Given the description of an element on the screen output the (x, y) to click on. 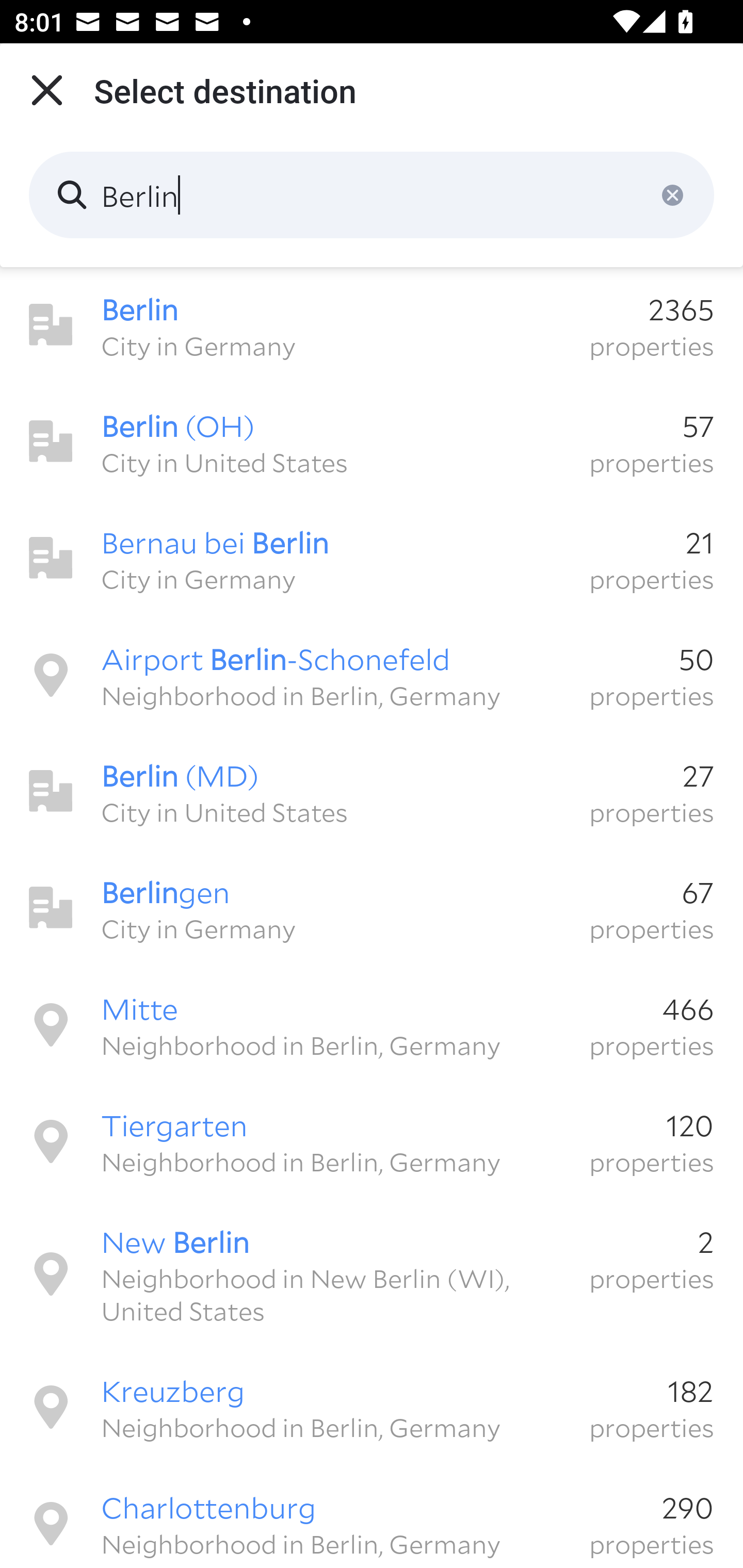
Berlin (371, 195)
Berlin 2365 City in Germany properties (371, 325)
Berlin (OH) 57 City in United States properties (371, 442)
Bernau bei Berlin 21 City in Germany properties (371, 558)
Berlin (MD) 27 City in United States properties (371, 791)
Berlingen 67 City in Germany properties (371, 907)
